Given the description of an element on the screen output the (x, y) to click on. 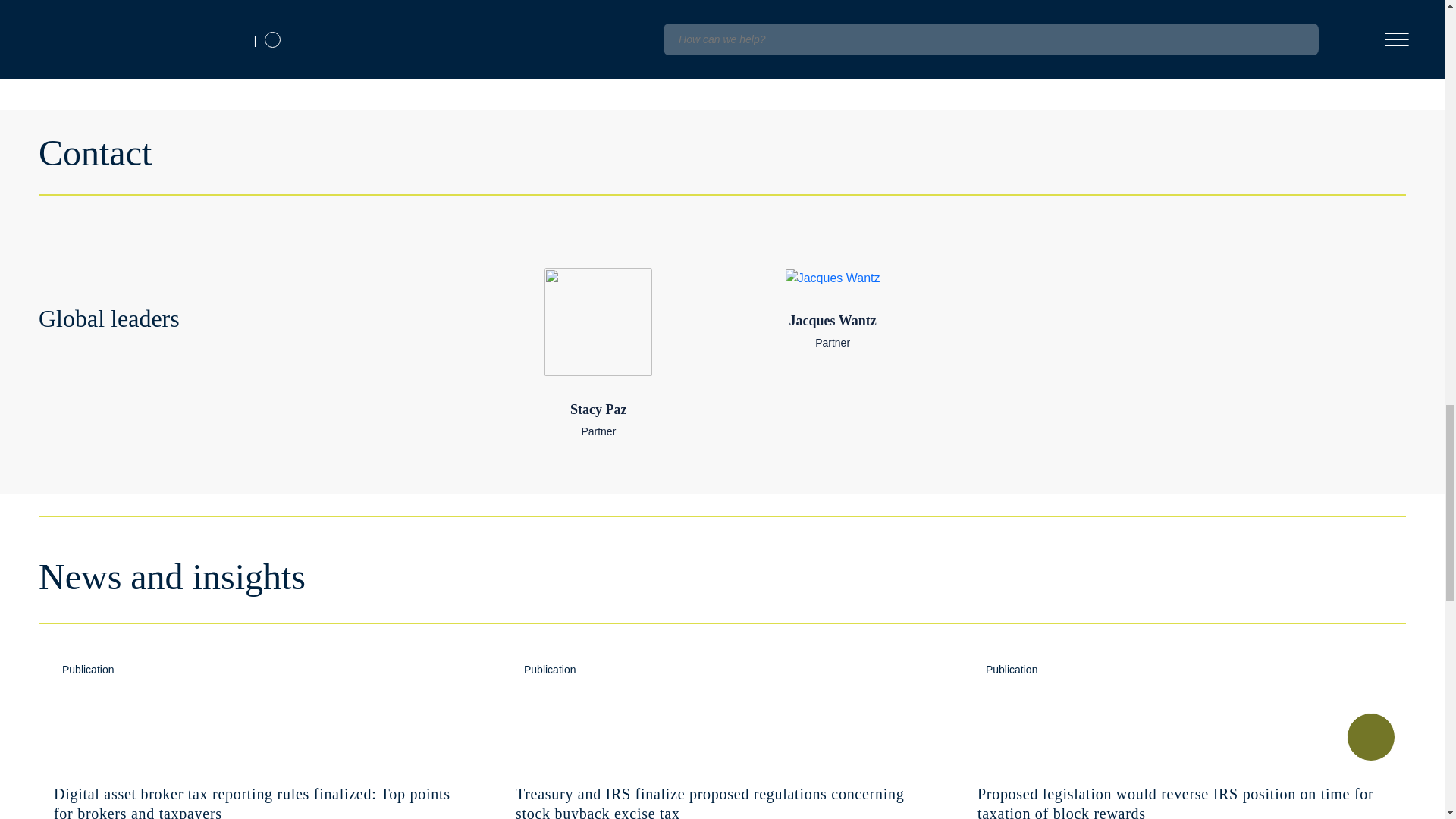
READ MORE (598, 353)
